Given the description of an element on the screen output the (x, y) to click on. 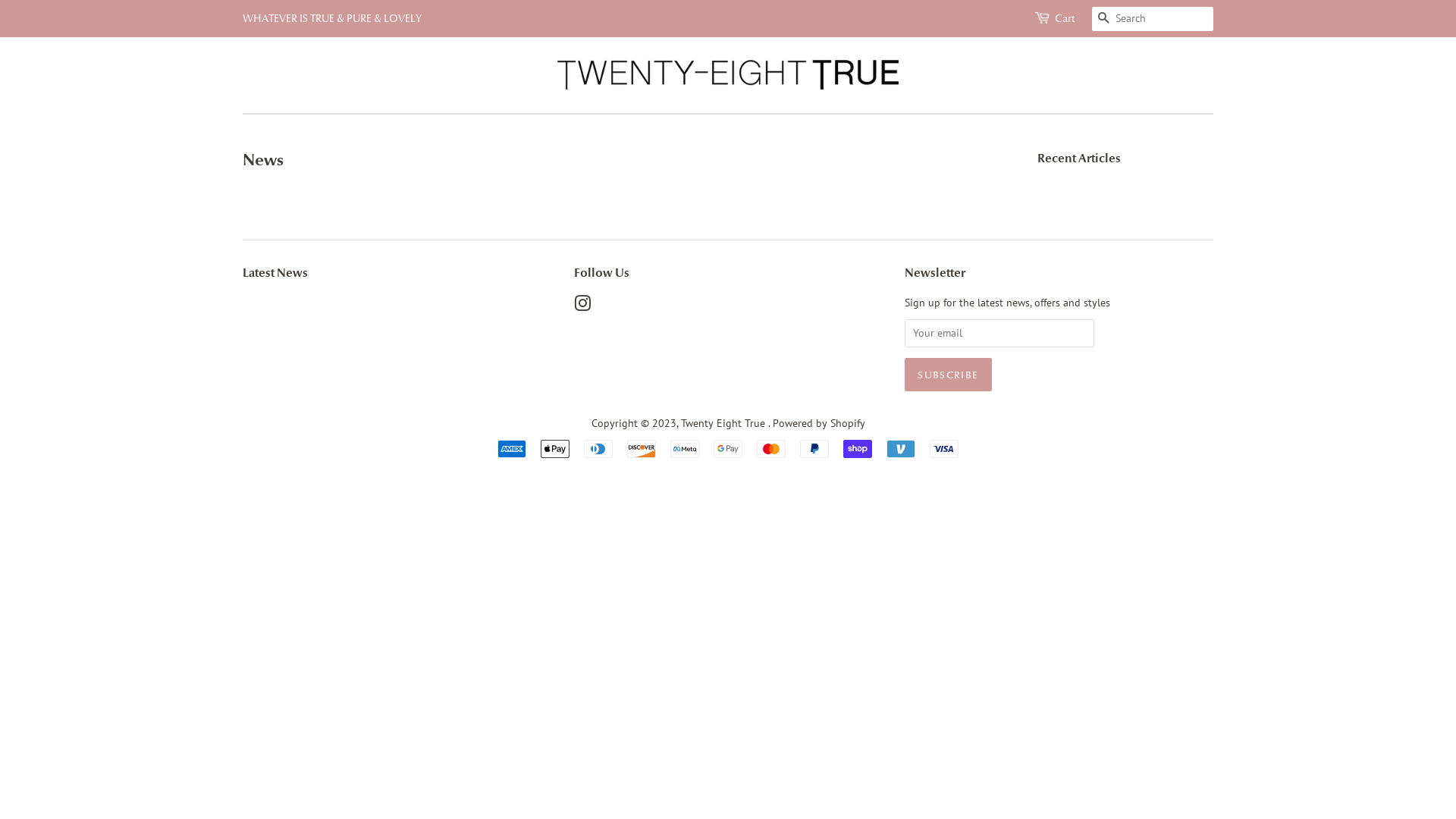
Powered by Shopify Element type: text (817, 422)
Latest News Element type: text (274, 272)
SEARCH Element type: text (1104, 18)
Subscribe Element type: text (947, 374)
Instagram Element type: text (582, 306)
Cart Element type: text (1064, 18)
Twenty Eight True Element type: text (724, 422)
